Given the description of an element on the screen output the (x, y) to click on. 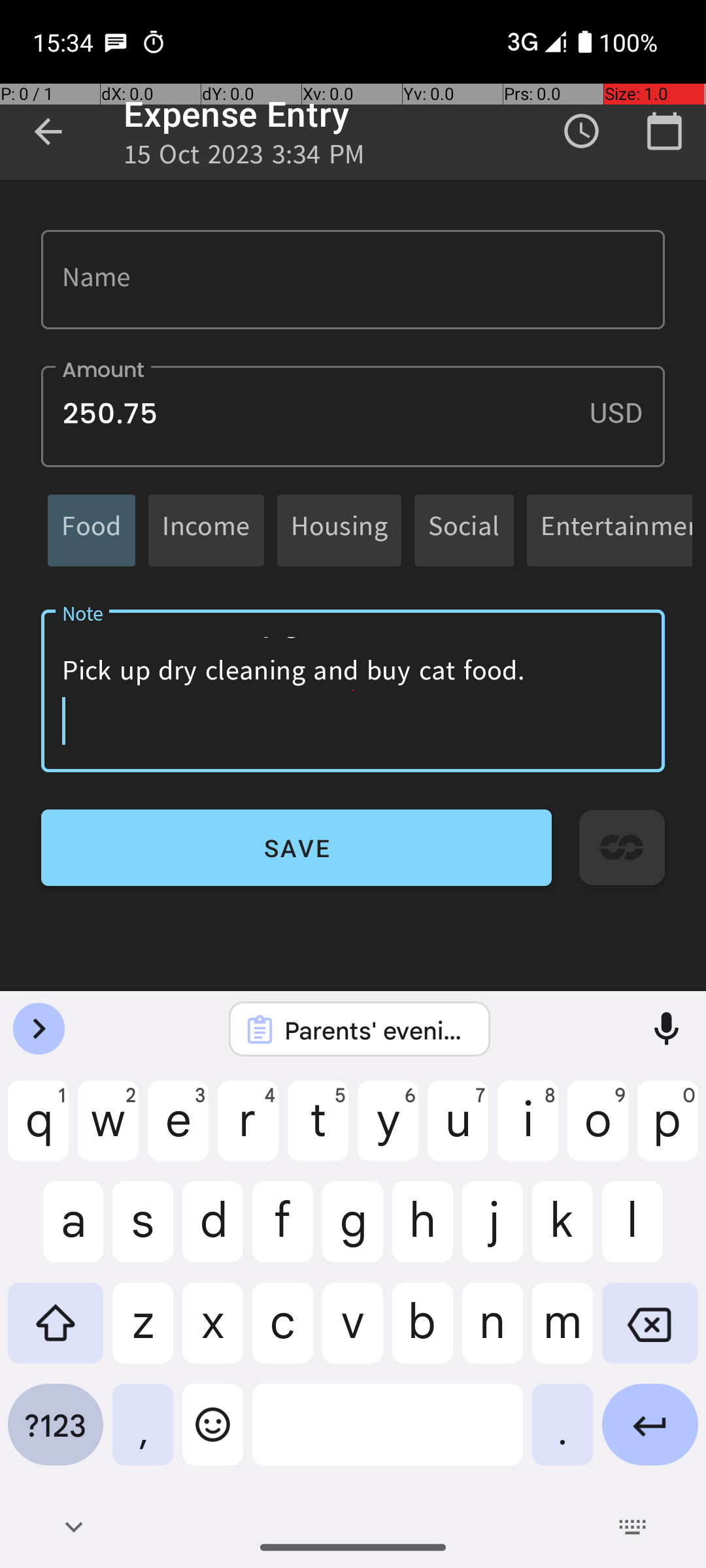
Remember to buy groceries for the week.
Pick up dry cleaning and buy cat food.
 Element type: android.widget.EditText (352, 690)
Parents' evening at school this Wednesday. Element type: android.widget.TextView (376, 1029)
